Given the description of an element on the screen output the (x, y) to click on. 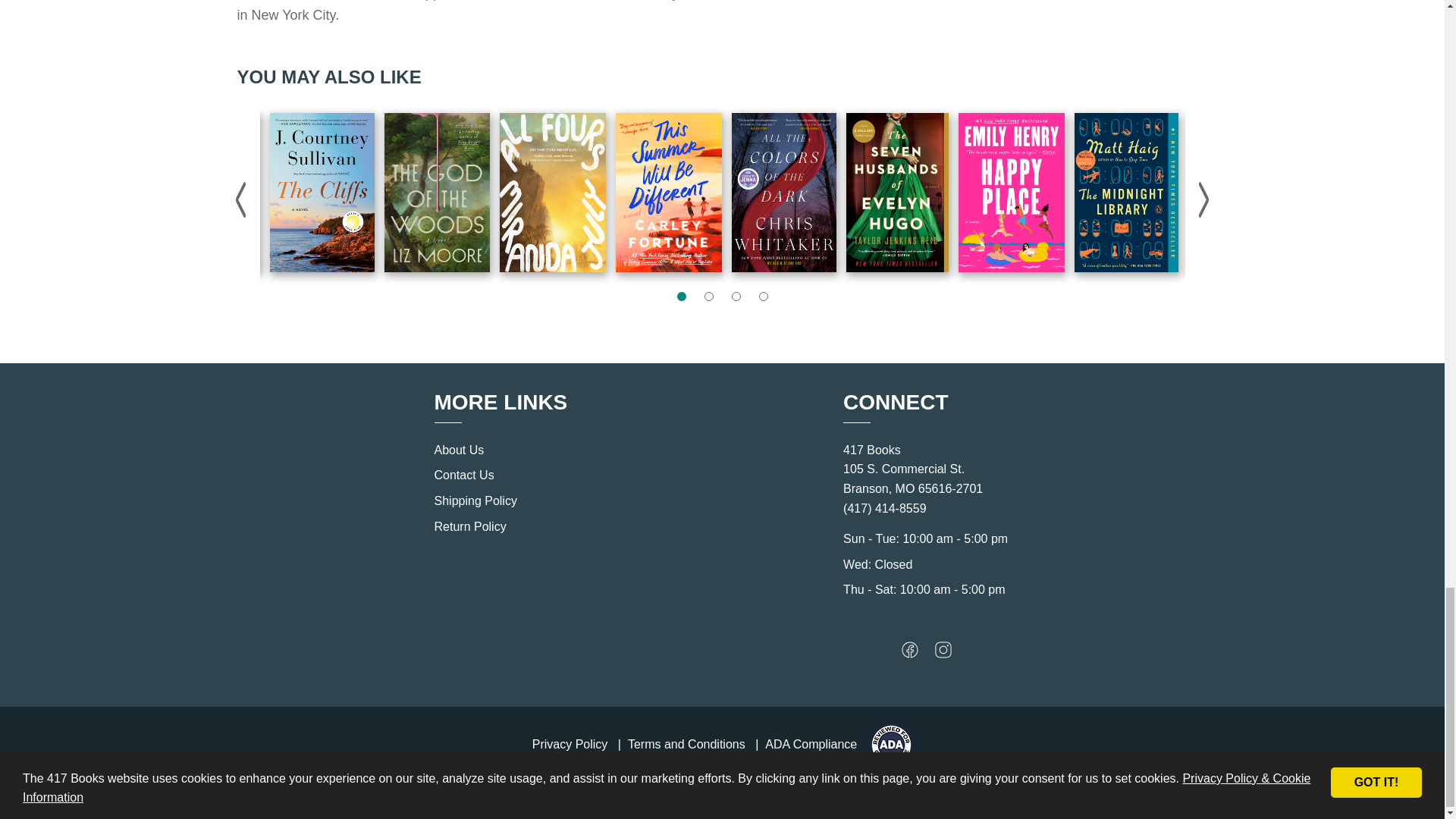
Connect with Instagram (943, 653)
Connect with Facebook (909, 653)
